Given the description of an element on the screen output the (x, y) to click on. 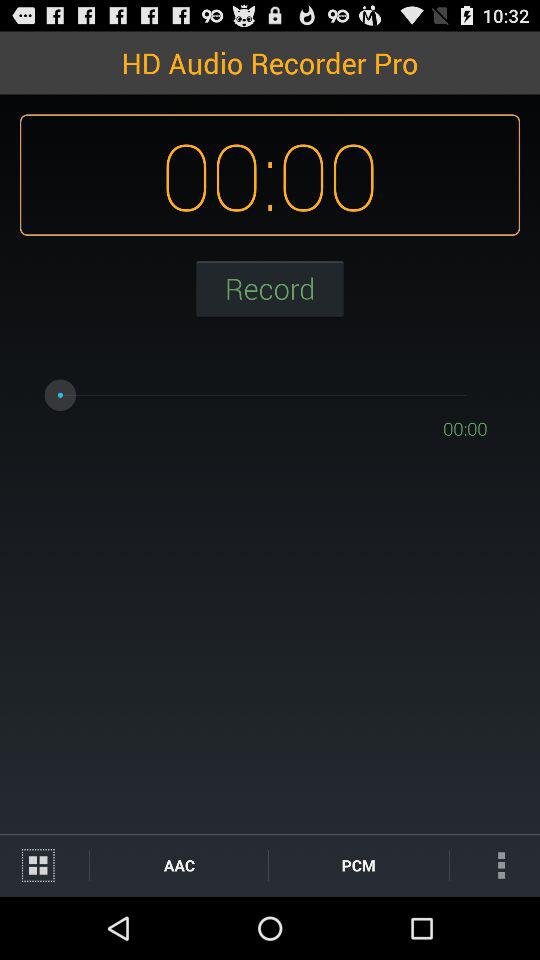
turn off the app below 00:00 item (358, 864)
